Given the description of an element on the screen output the (x, y) to click on. 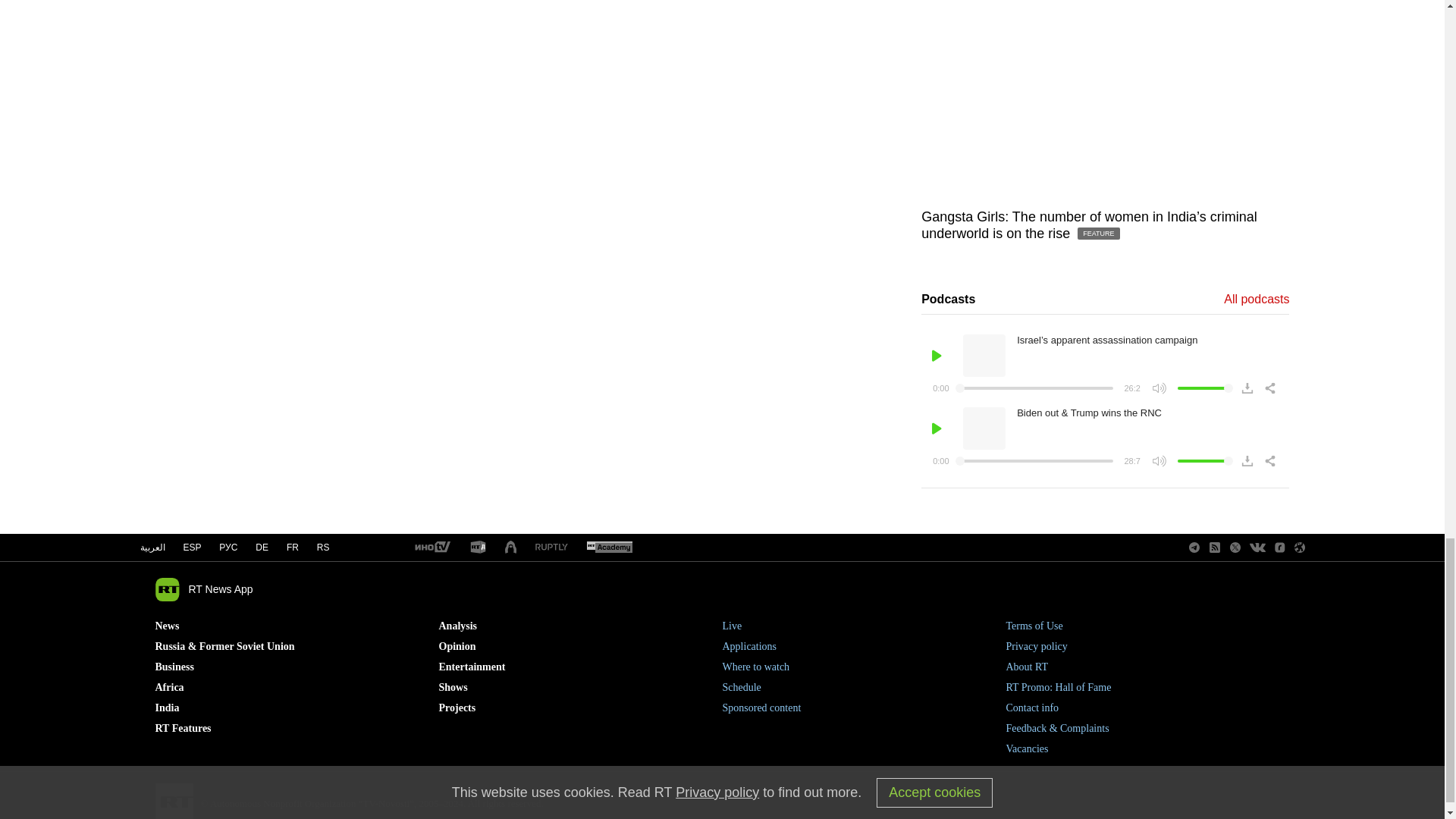
RT  (608, 547)
RT  (478, 547)
RT  (431, 547)
RT  (551, 547)
